Given the description of an element on the screen output the (x, y) to click on. 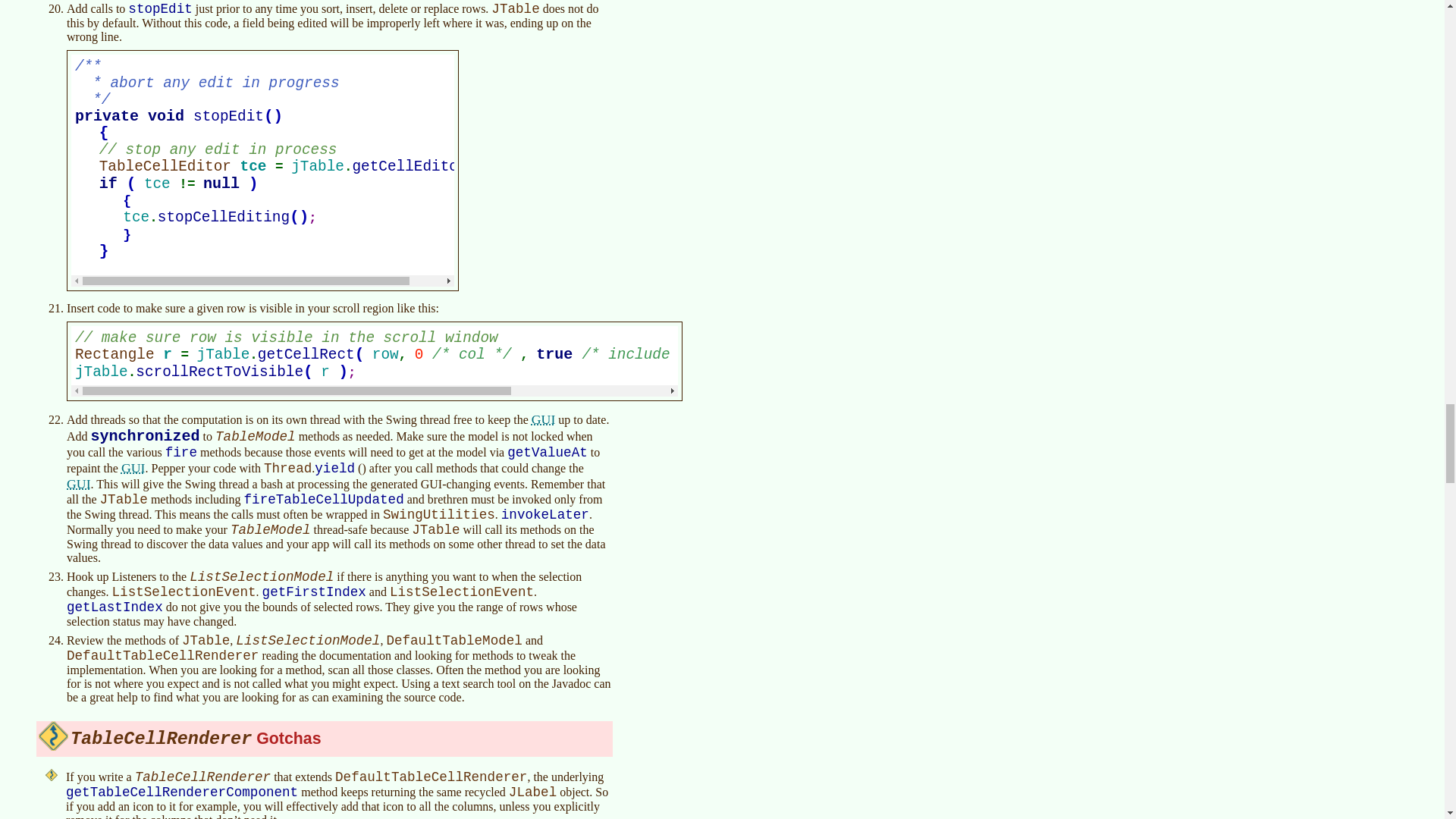
Graphic User Interface (78, 483)
Graphic User Interface (543, 418)
Graphic User Interface (132, 467)
